Given the description of an element on the screen output the (x, y) to click on. 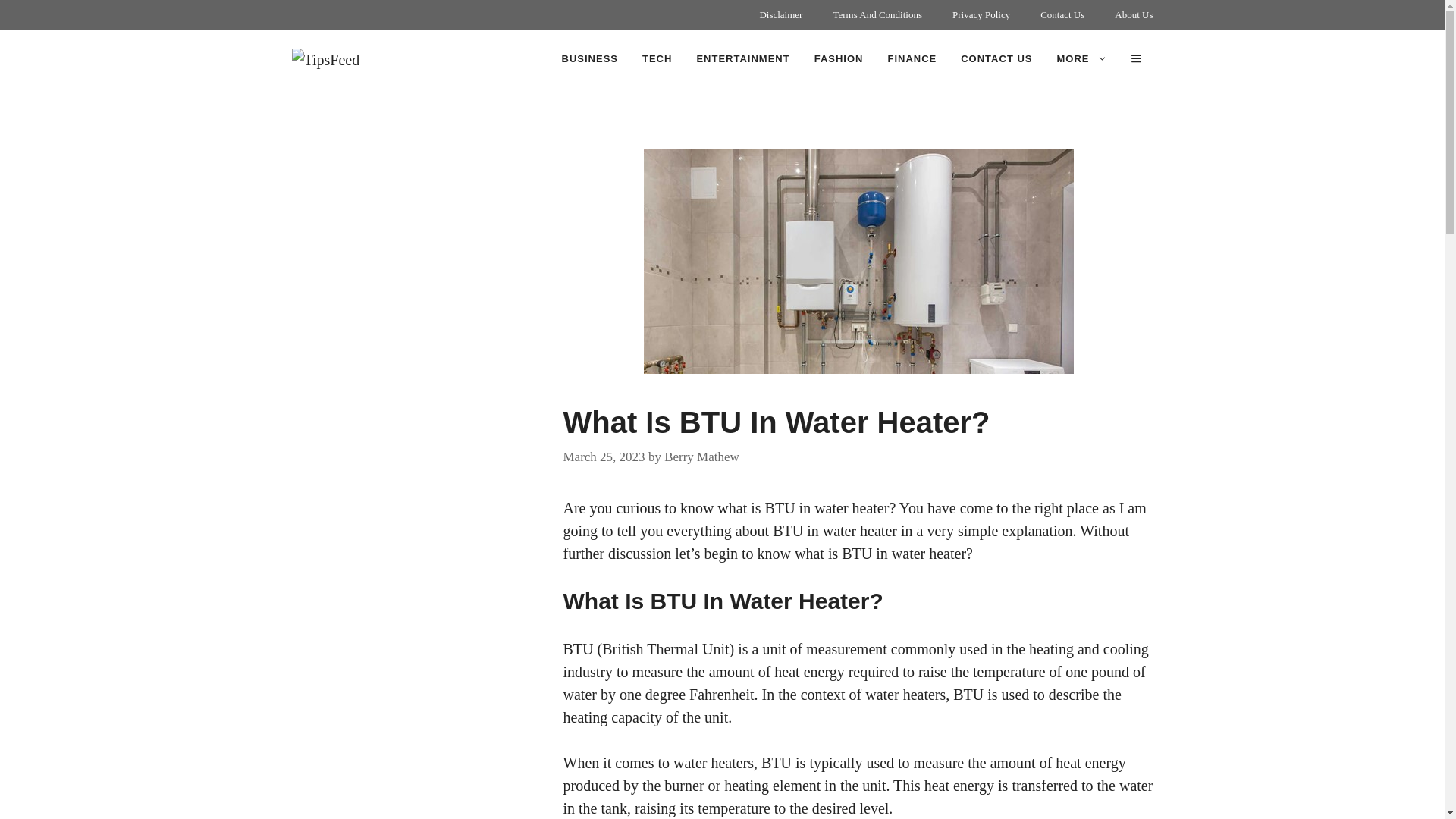
BUSINESS (590, 58)
TECH (657, 58)
About Us (1133, 15)
FINANCE (912, 58)
CONTACT US (996, 58)
Contact Us (1062, 15)
Terms And Conditions (876, 15)
Privacy Policy (981, 15)
View all posts by Berry Mathew (701, 455)
ENTERTAINMENT (743, 58)
